Given the description of an element on the screen output the (x, y) to click on. 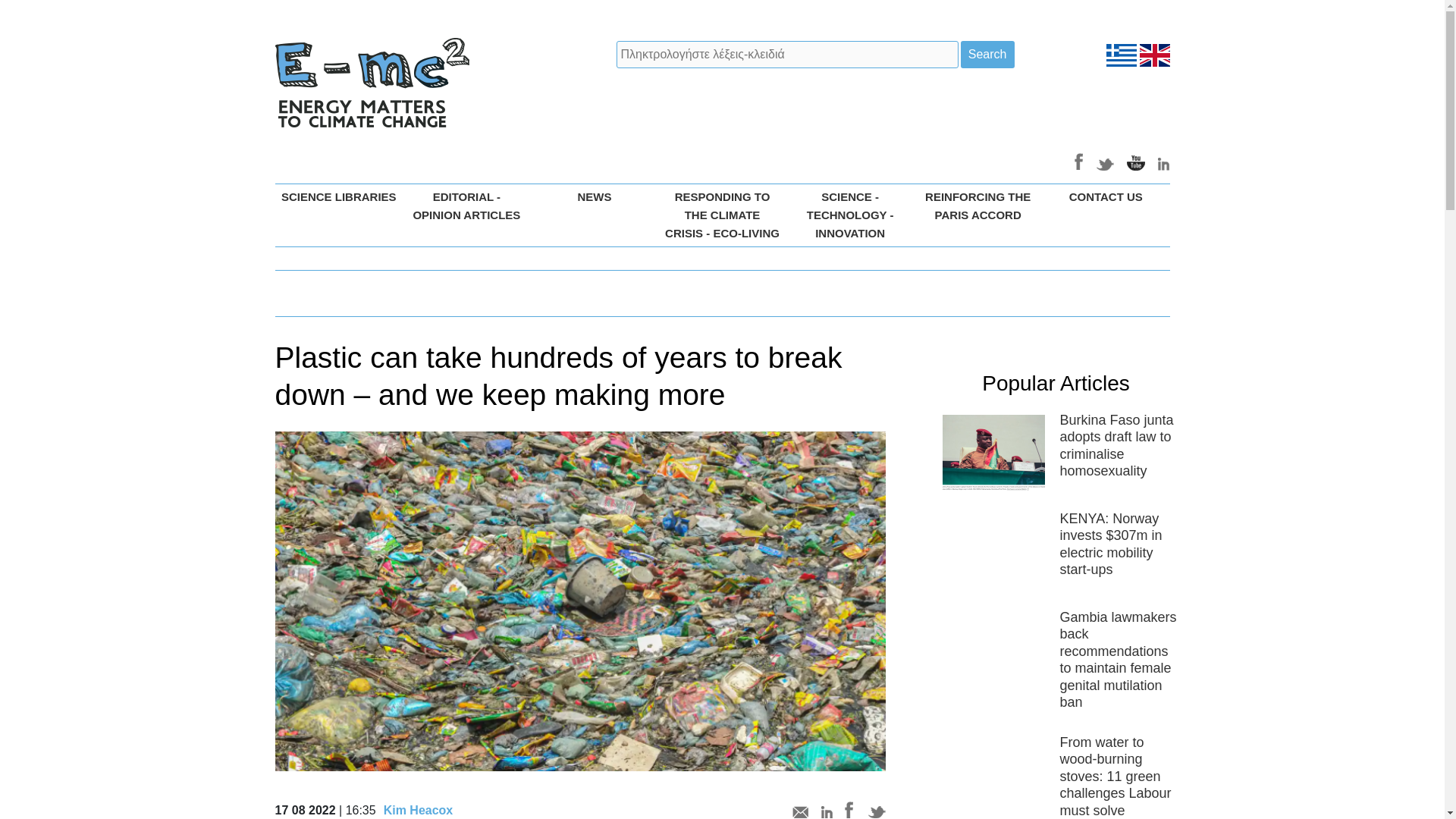
RESPONDING TO THE CLIMATE CRISIS - ECO-LIVING (722, 215)
NEWS (595, 196)
Search (987, 53)
SCIENCE LIBRARIES (339, 196)
Kim Heacox (418, 809)
REINFORCING THE PARIS ACCORD (978, 206)
Follow us on Twitter (1105, 161)
EDITORIAL - OPINION ARTICLES (467, 206)
Search keywords (786, 53)
CONTACT US (1106, 196)
3rd party ad content (992, 102)
Search (987, 53)
Follow us on Youtube (1135, 161)
SCIENCE - TECHNOLOGY - INNOVATION (850, 215)
